Given the description of an element on the screen output the (x, y) to click on. 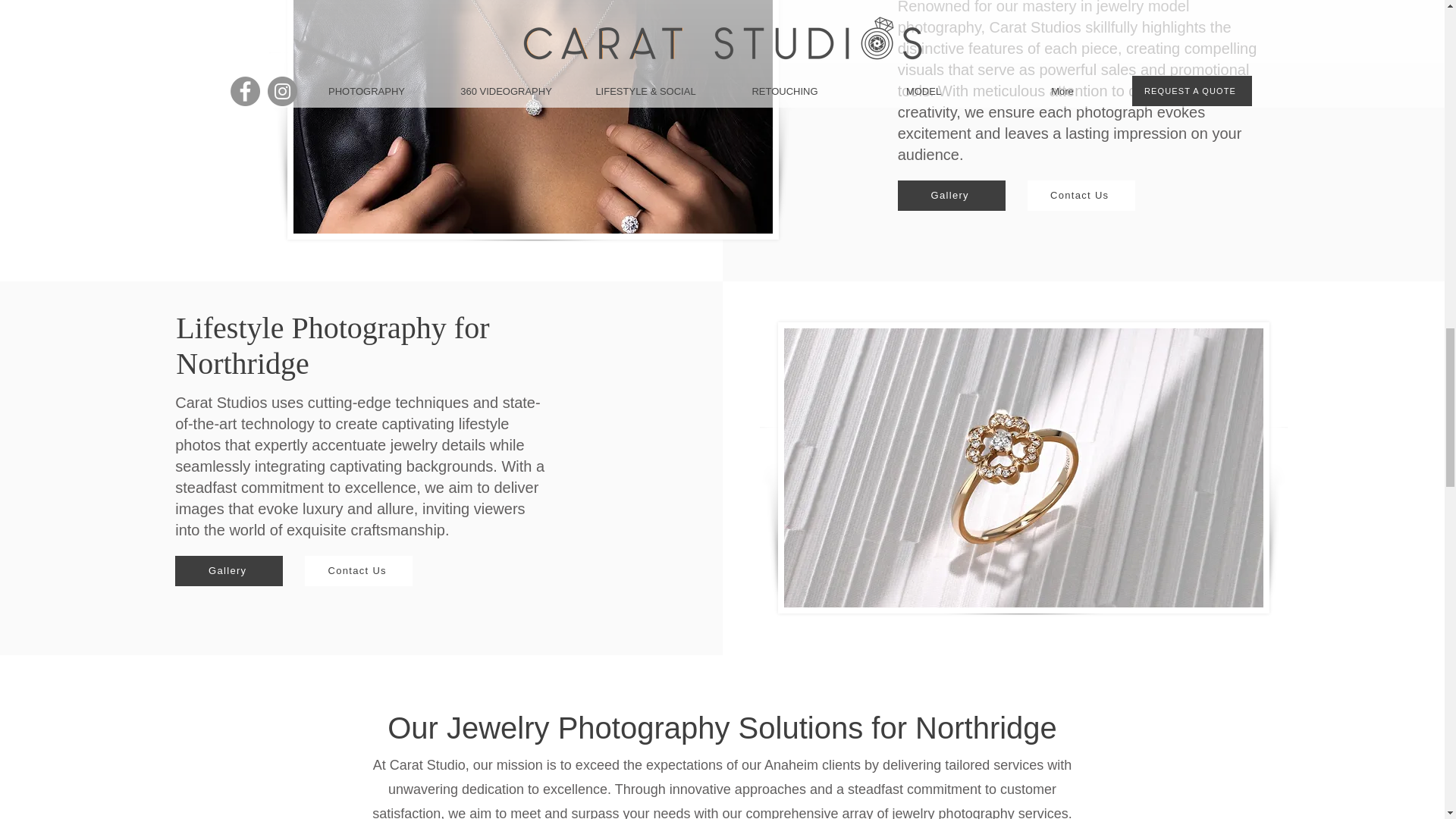
Gallery (228, 571)
Contact Us (358, 571)
Gallery (952, 195)
Contact Us (1081, 195)
